Given the description of an element on the screen output the (x, y) to click on. 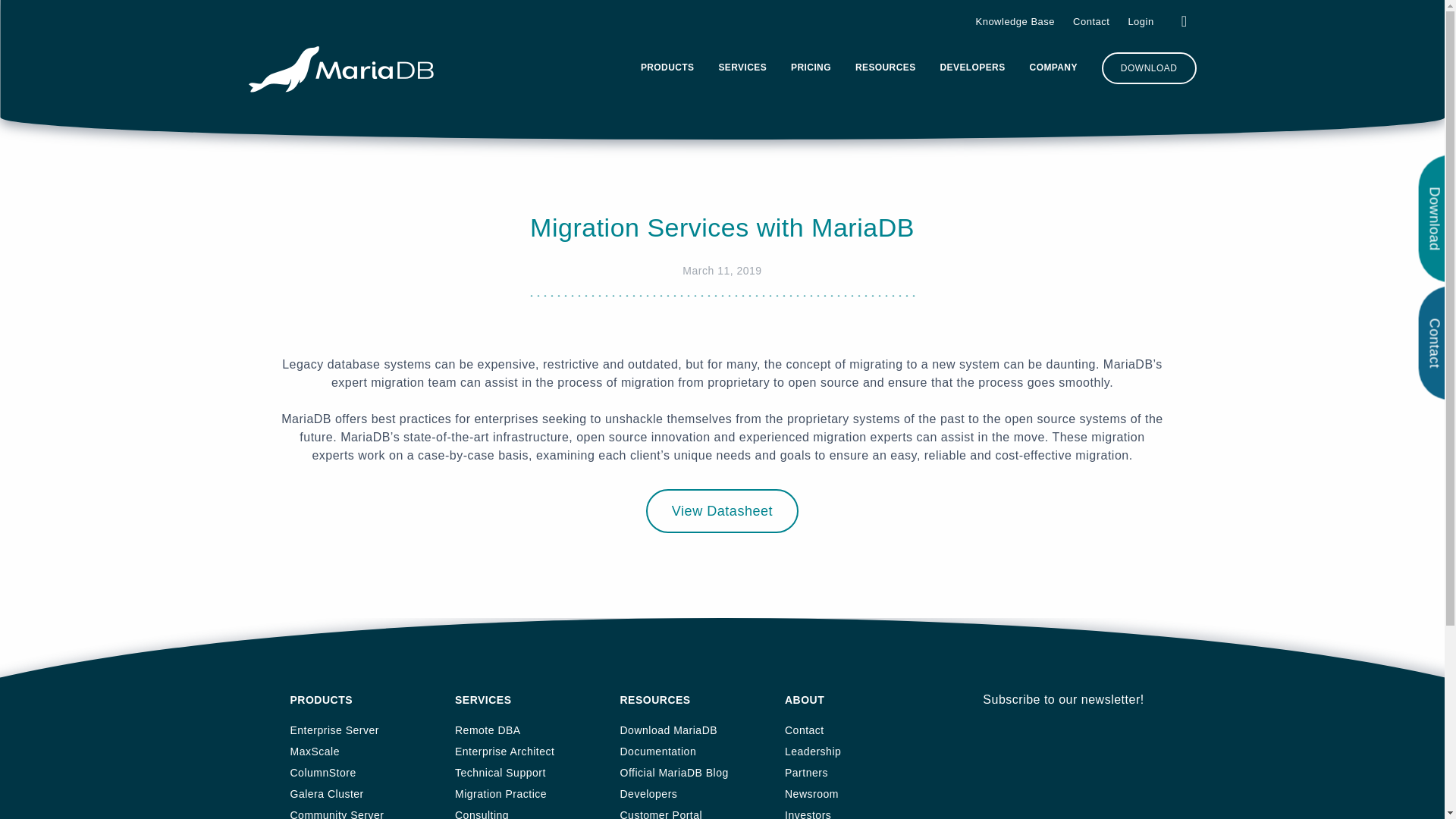
PRODUCTS (667, 69)
SERVICES (742, 69)
RESOURCES (885, 69)
Contact (1091, 21)
Login (1139, 21)
Knowledge Base (1014, 21)
PRICING (810, 69)
